Given the description of an element on the screen output the (x, y) to click on. 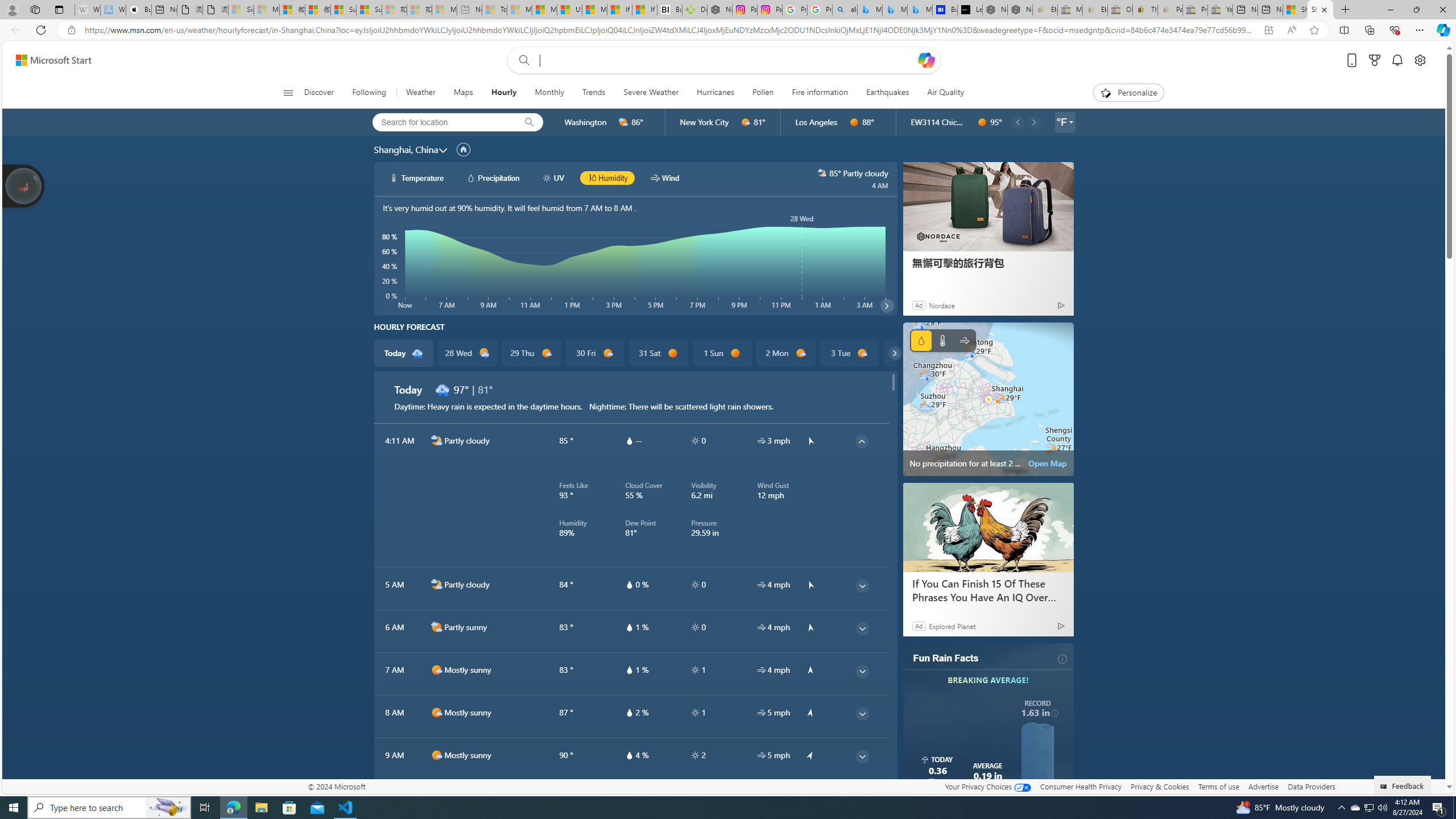
hourlyChart/precipitationWhite (470, 177)
hourlyChart/windWhite Wind (664, 178)
Trends (593, 92)
Join us in planting real trees to help our planet! (23, 184)
Precipitation (920, 340)
Pollen (762, 92)
d0000 (735, 353)
Consumer Health Privacy (1080, 786)
hourlyChart/temperatureWhite (394, 177)
